Given the description of an element on the screen output the (x, y) to click on. 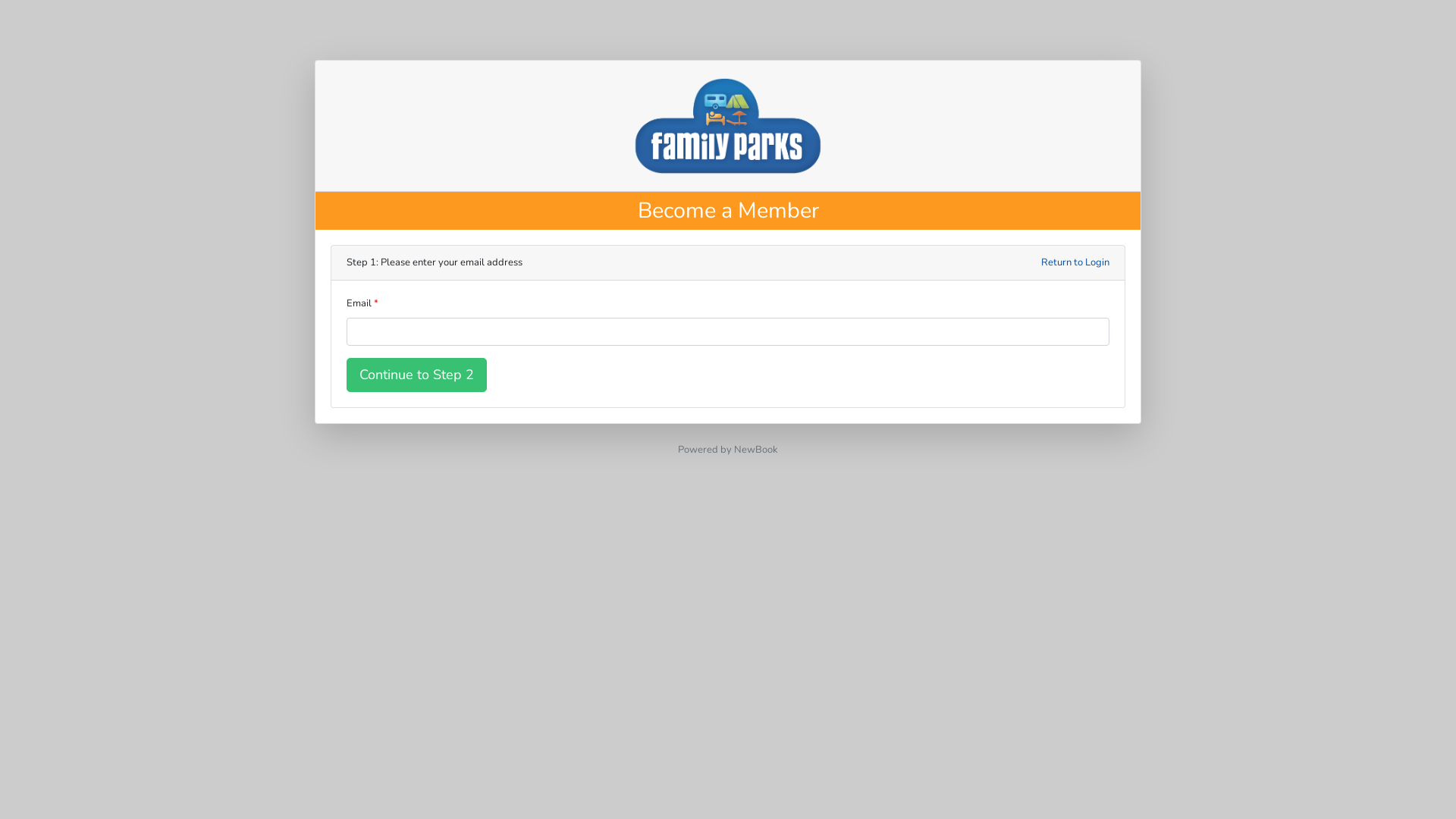
Continue to Step 2 Element type: text (416, 374)
NewBook Element type: text (756, 449)
Return to Login Element type: text (1075, 262)
